Given the description of an element on the screen output the (x, y) to click on. 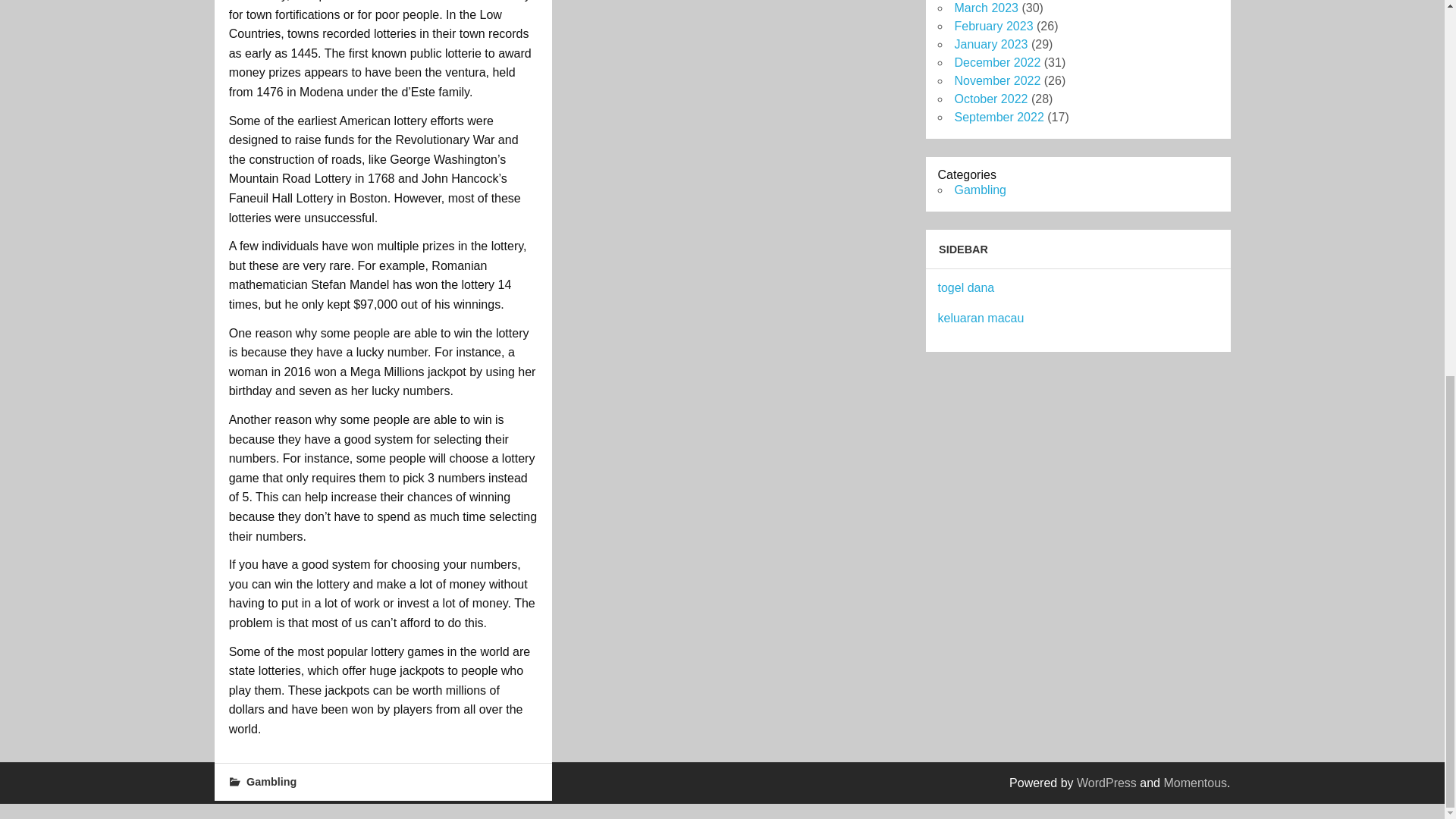
October 2022 (990, 98)
Gambling (271, 781)
December 2022 (997, 62)
September 2022 (998, 116)
WordPress (1107, 782)
Momentous WordPress Theme (1195, 782)
Gambling (979, 189)
February 2023 (992, 25)
March 2023 (985, 7)
January 2023 (990, 43)
November 2022 (997, 80)
